Given the description of an element on the screen output the (x, y) to click on. 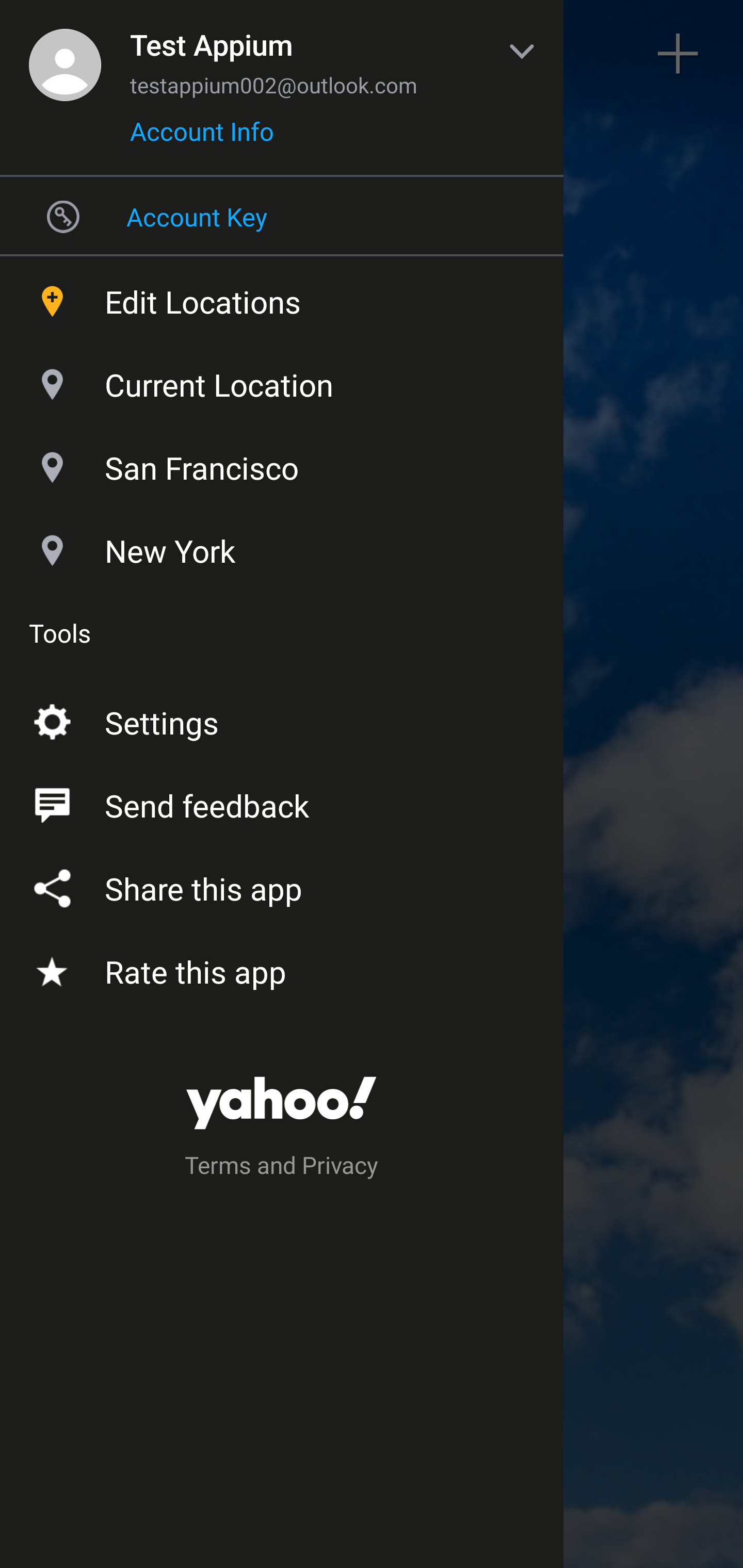
Sidebar (64, 54)
Account Info (202, 137)
Account Key (281, 216)
Edit Locations (281, 296)
Current Location (281, 379)
San Francisco (281, 462)
New York (281, 546)
Settings (281, 718)
Send feedback (281, 801)
Share this app (281, 884)
Terms and Privacy Terms and privacy button (281, 1168)
